Given the description of an element on the screen output the (x, y) to click on. 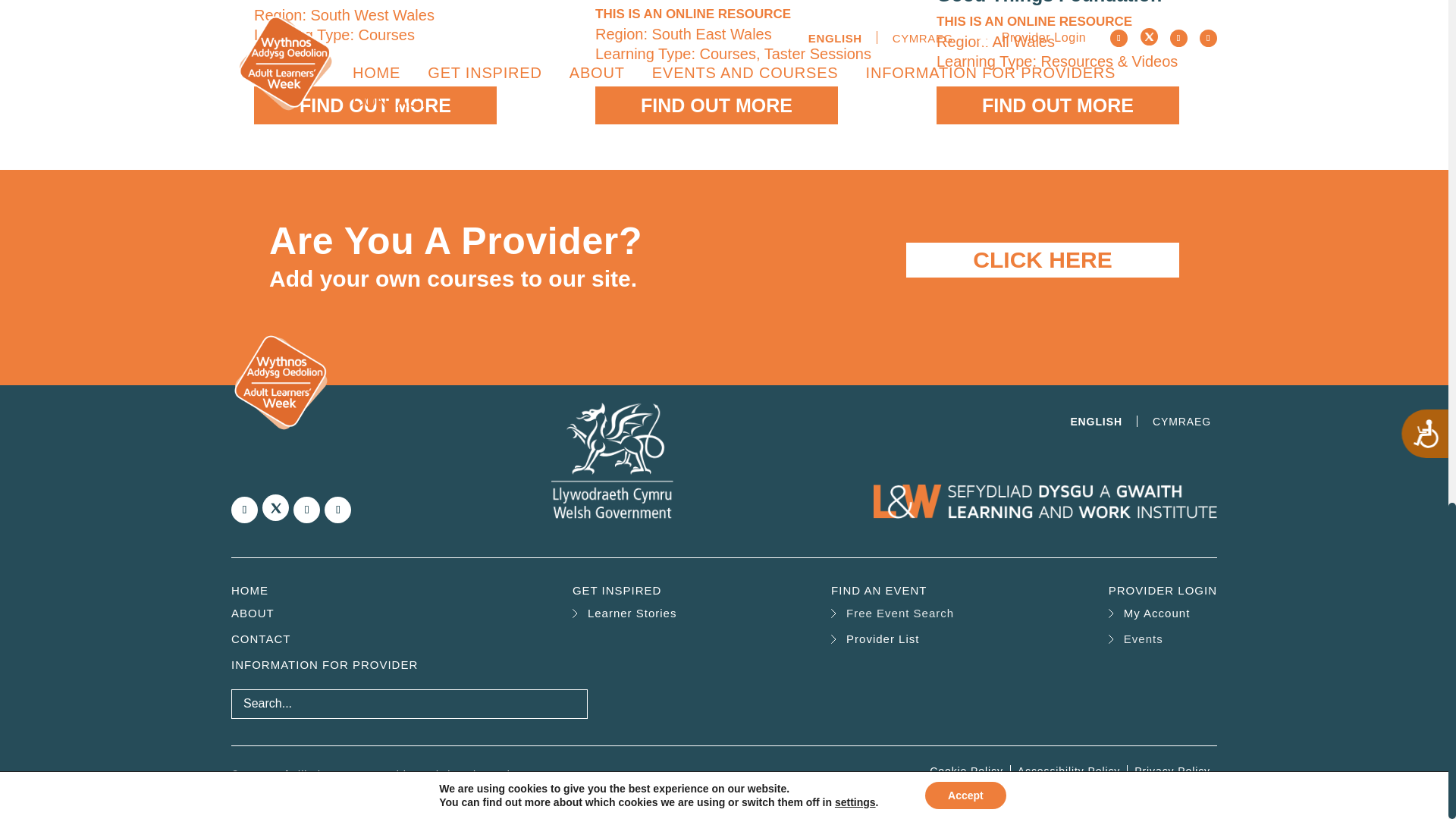
Youtube (337, 509)
Search for: (409, 704)
Follow on X (275, 507)
Facebook (244, 509)
Instagram (307, 509)
